Given the description of an element on the screen output the (x, y) to click on. 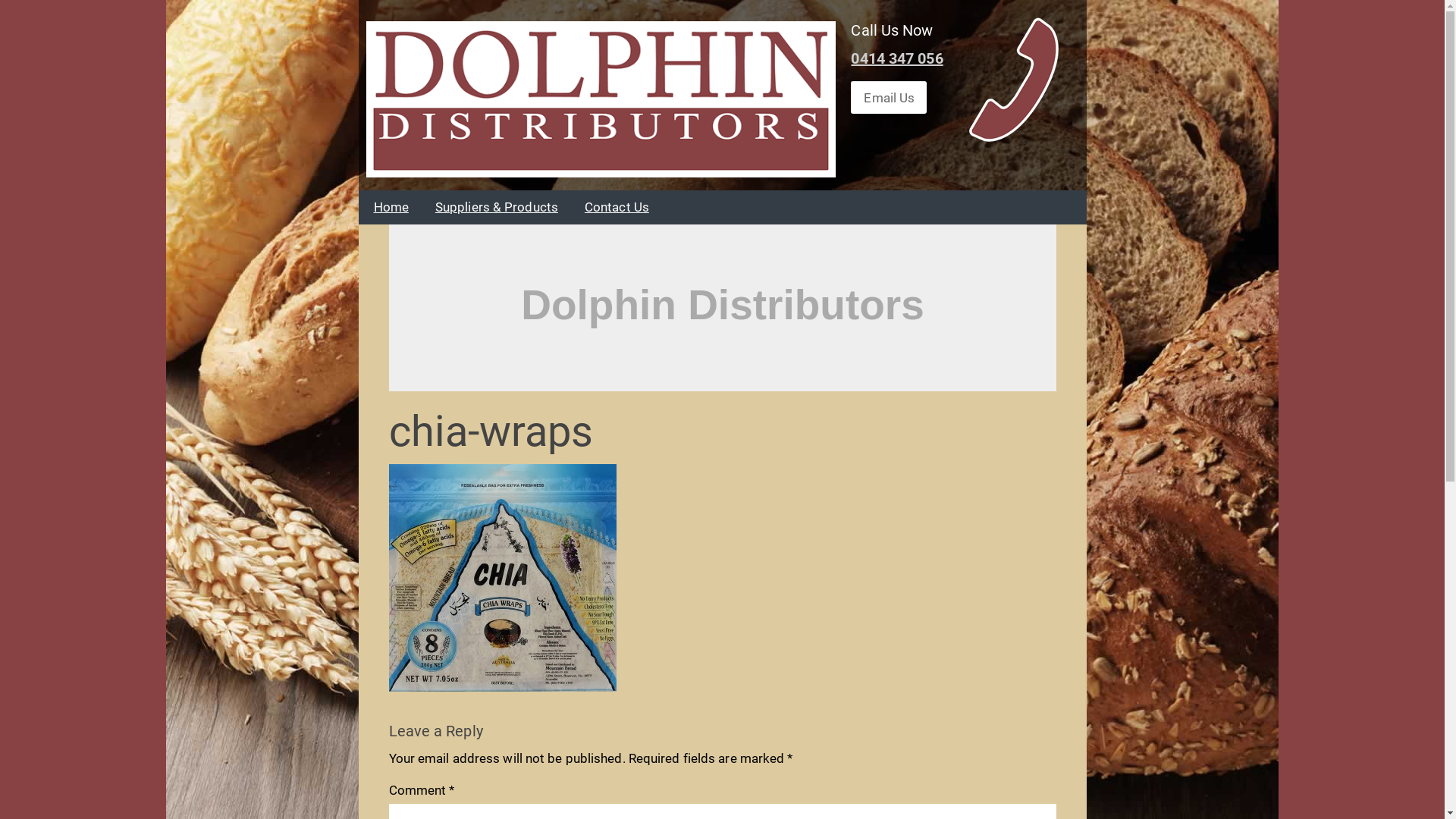
Contact Us Element type: text (616, 207)
Suppliers & Products Element type: text (496, 207)
Email Us Element type: text (888, 96)
Home Element type: text (390, 207)
0414 347 056 Element type: text (896, 57)
